Given the description of an element on the screen output the (x, y) to click on. 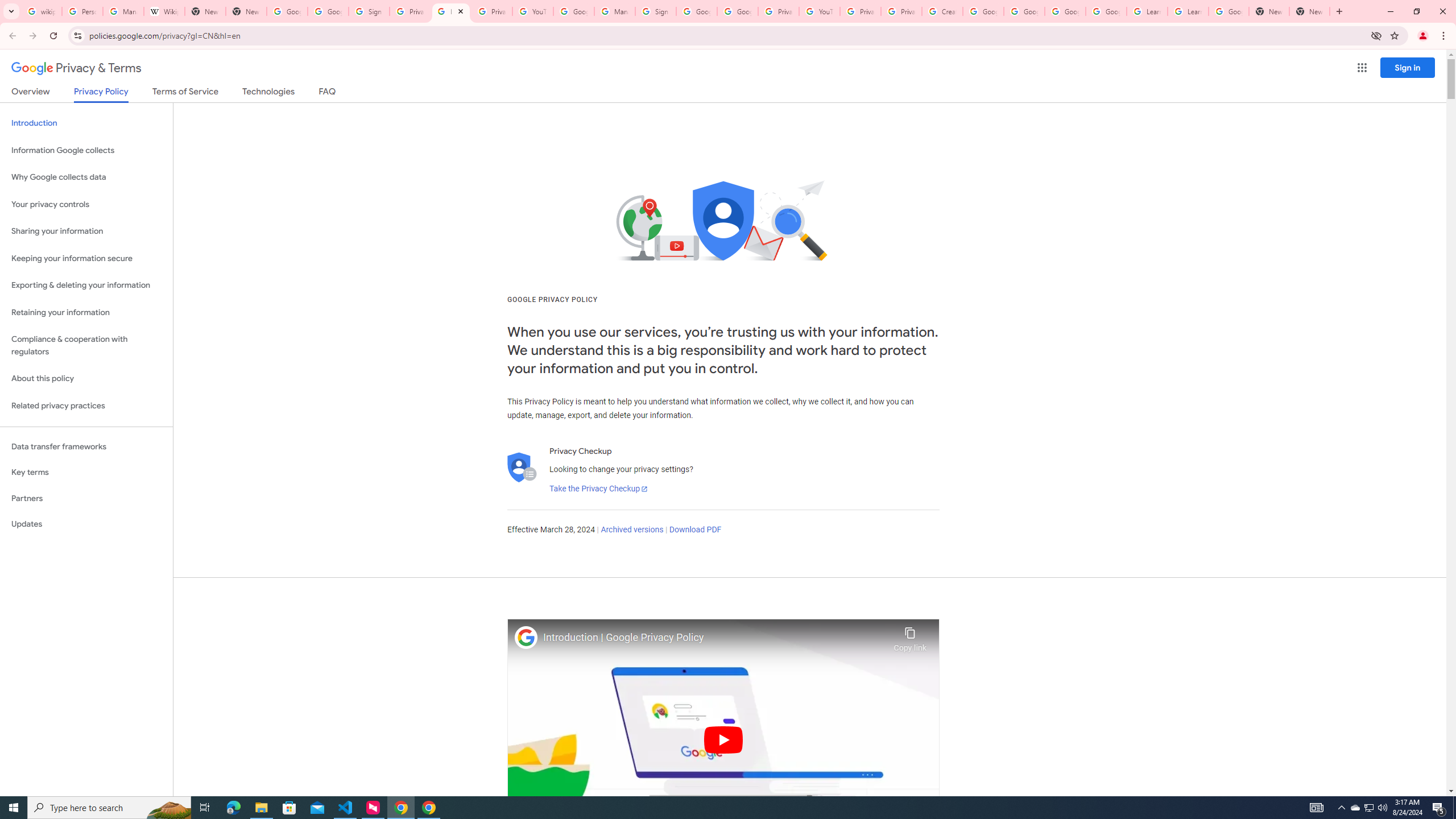
Archived versions (631, 529)
Sign in (1407, 67)
Key terms (86, 472)
FAQ (327, 93)
Related privacy practices (86, 405)
Exporting & deleting your information (86, 284)
About this policy (86, 379)
